Given the description of an element on the screen output the (x, y) to click on. 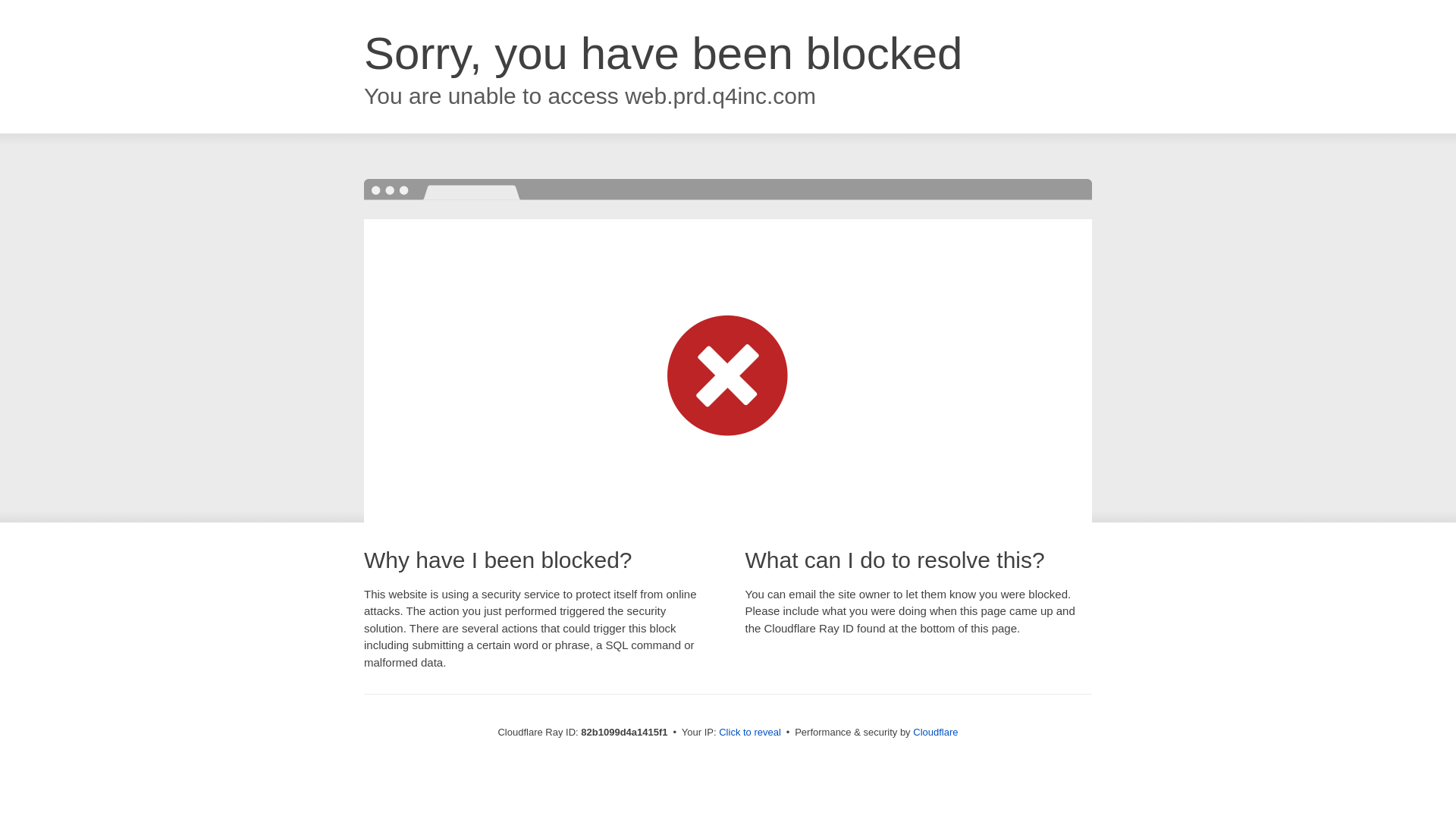
Click to reveal Element type: text (749, 732)
Cloudflare Element type: text (935, 731)
